Given the description of an element on the screen output the (x, y) to click on. 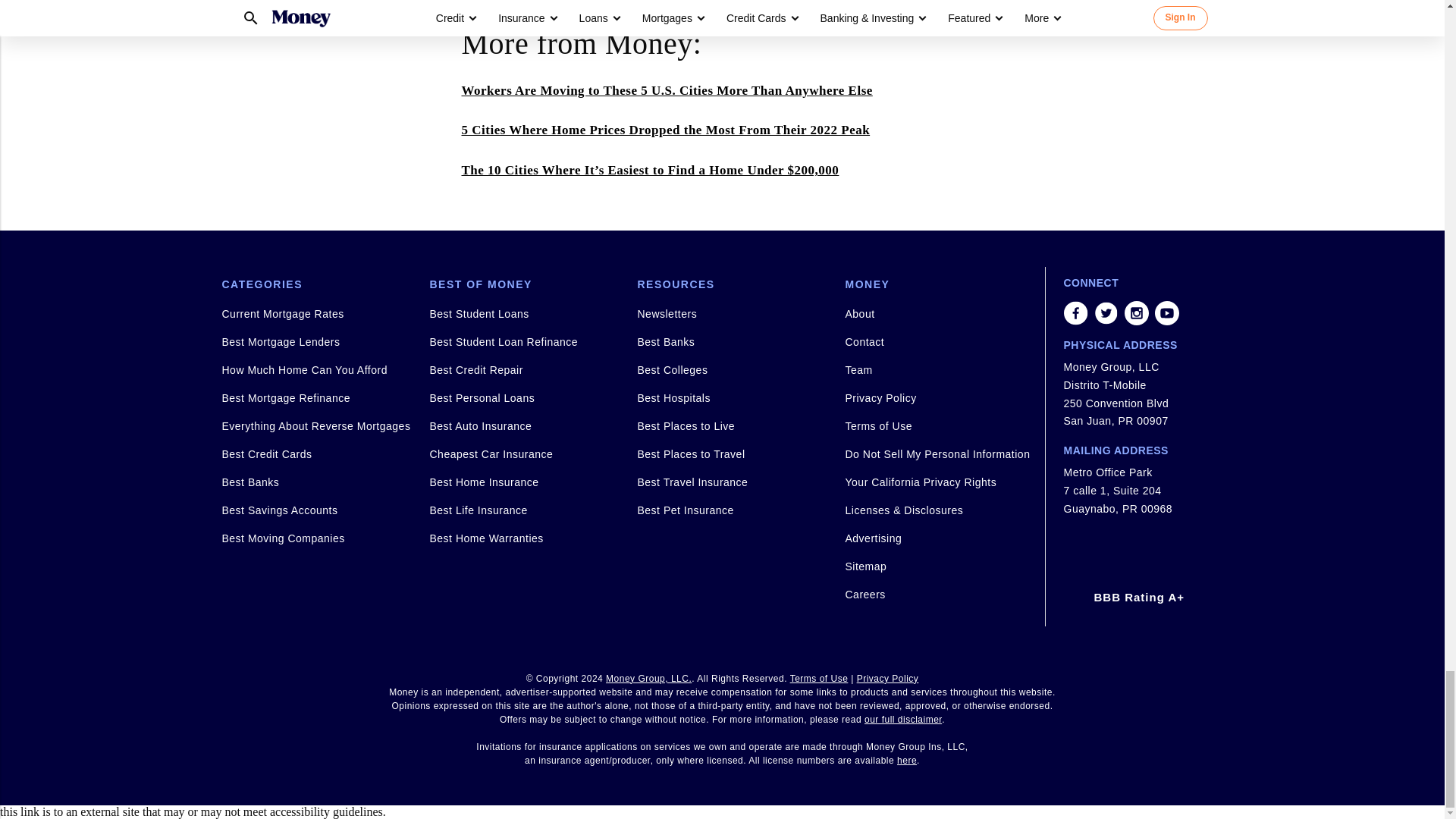
twitter share (1105, 313)
youtube share (1165, 313)
instagram share (1136, 313)
facebook share (1074, 313)
